Given the description of an element on the screen output the (x, y) to click on. 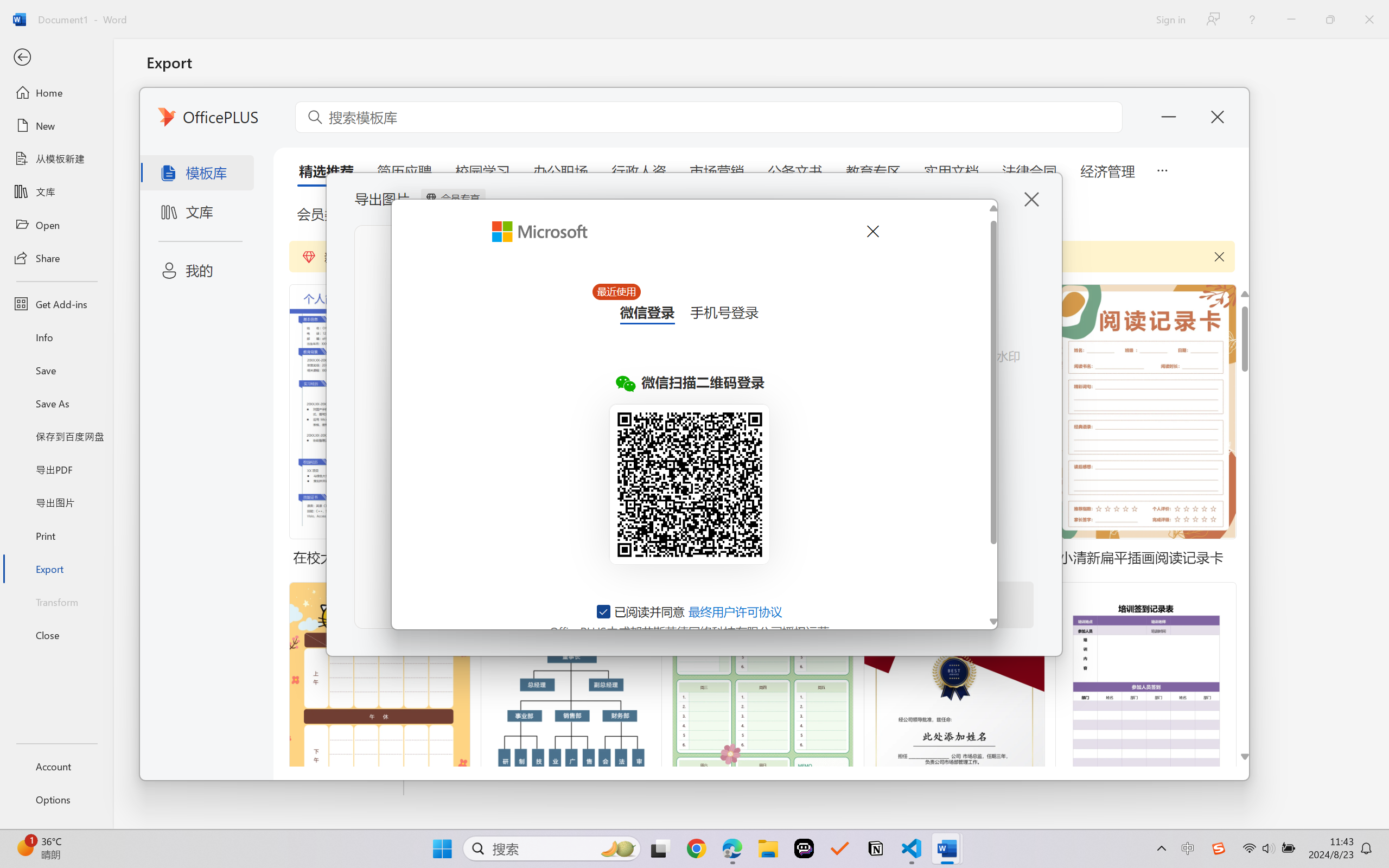
Options (56, 798)
5 more tabs (1161, 169)
